Given the description of an element on the screen output the (x, y) to click on. 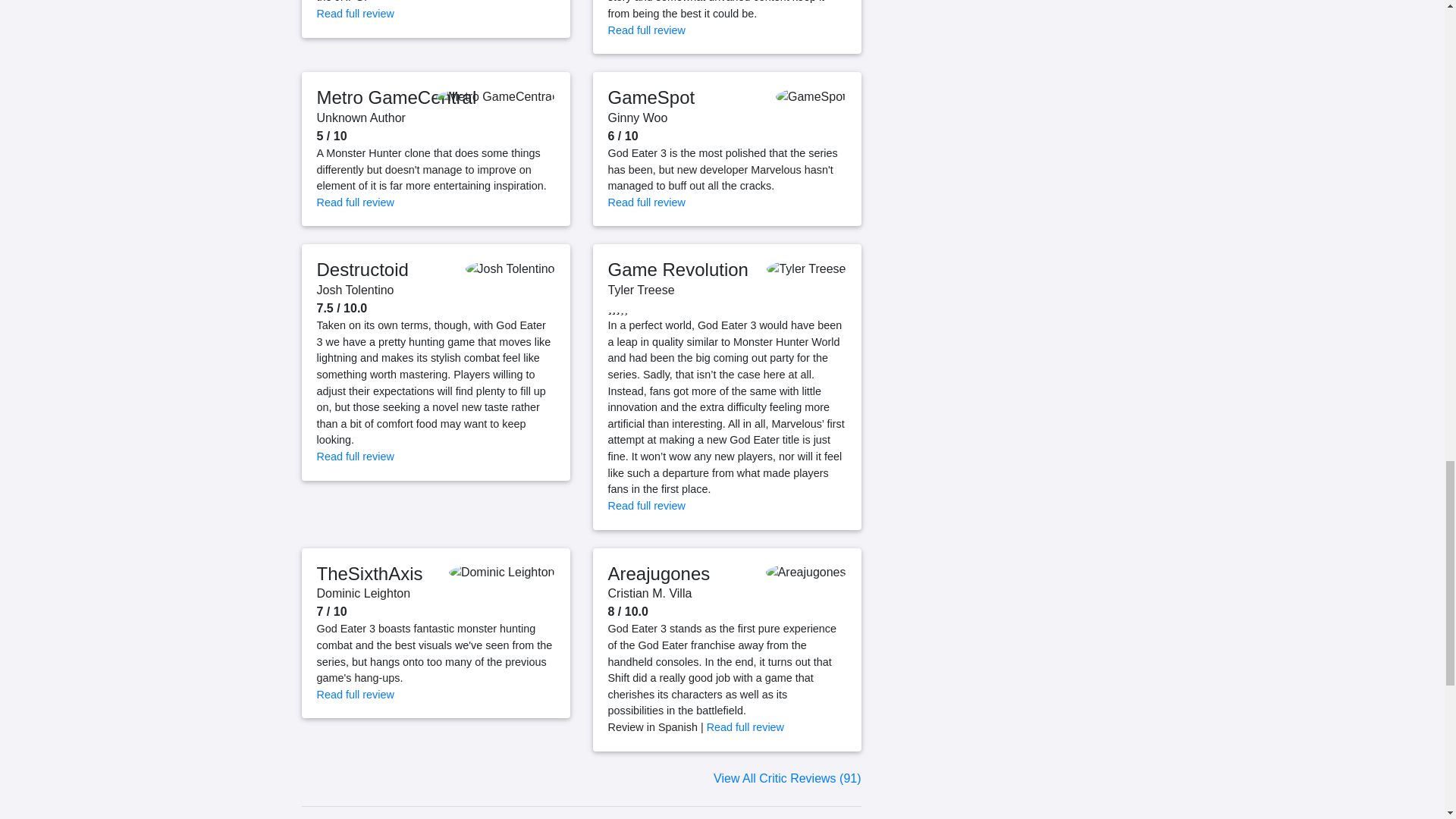
Read full review (646, 30)
Metro GameCentral (397, 96)
Read full review (355, 13)
